Given the description of an element on the screen output the (x, y) to click on. 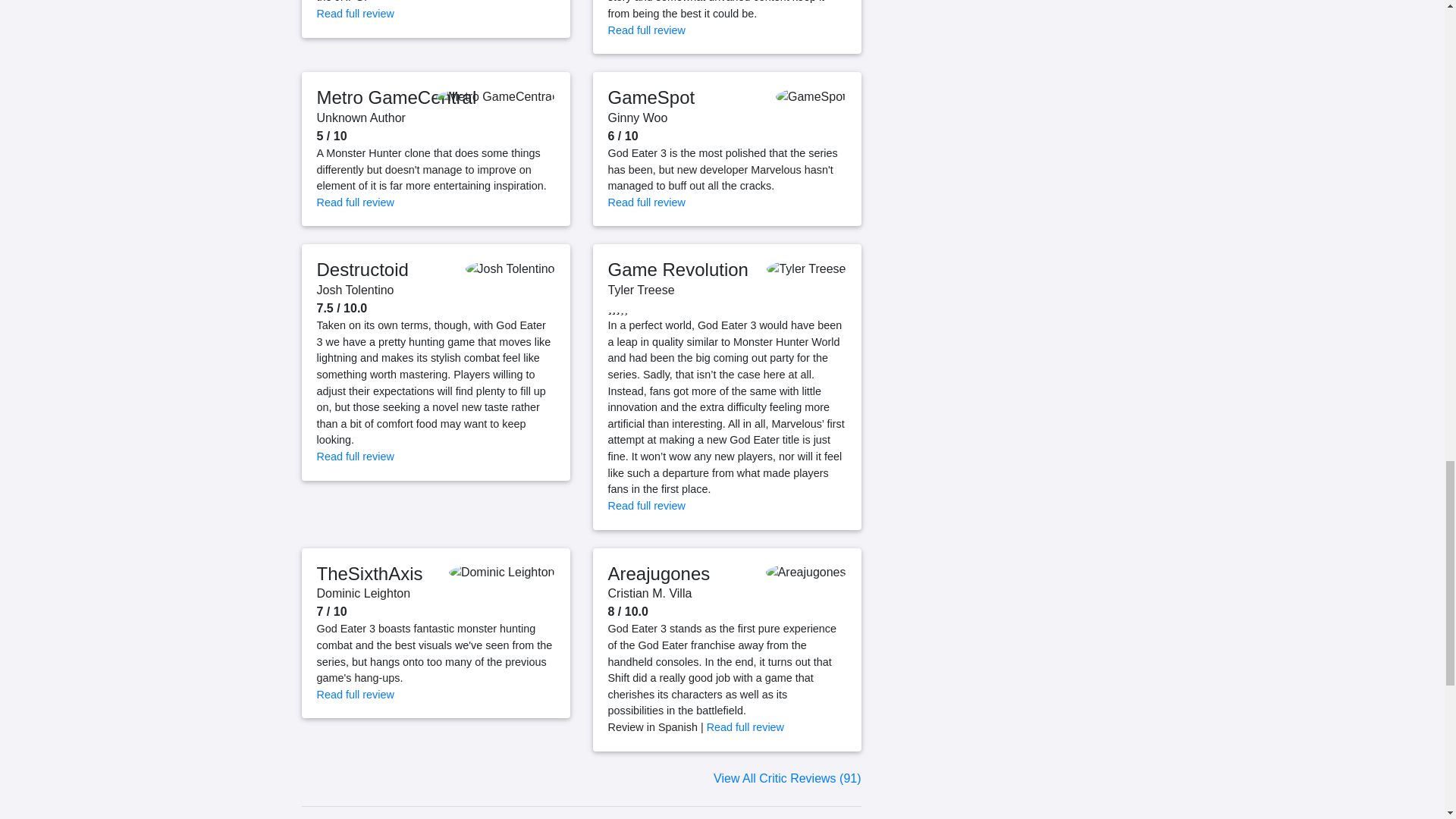
Read full review (646, 30)
Metro GameCentral (397, 96)
Read full review (355, 13)
